Given the description of an element on the screen output the (x, y) to click on. 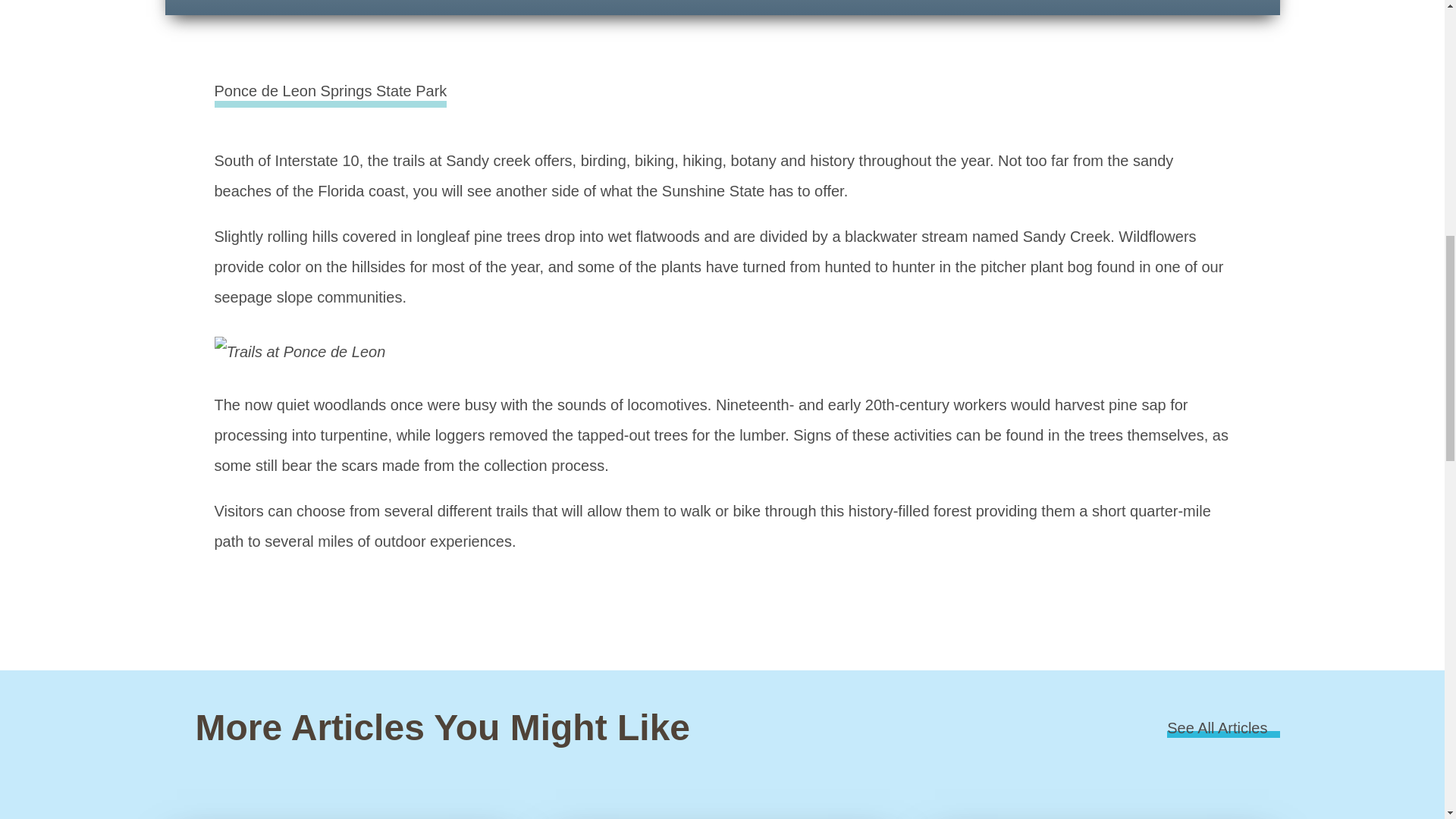
Ponce de Leon Springs State Park (330, 91)
See All Articles (1223, 728)
